Given the description of an element on the screen output the (x, y) to click on. 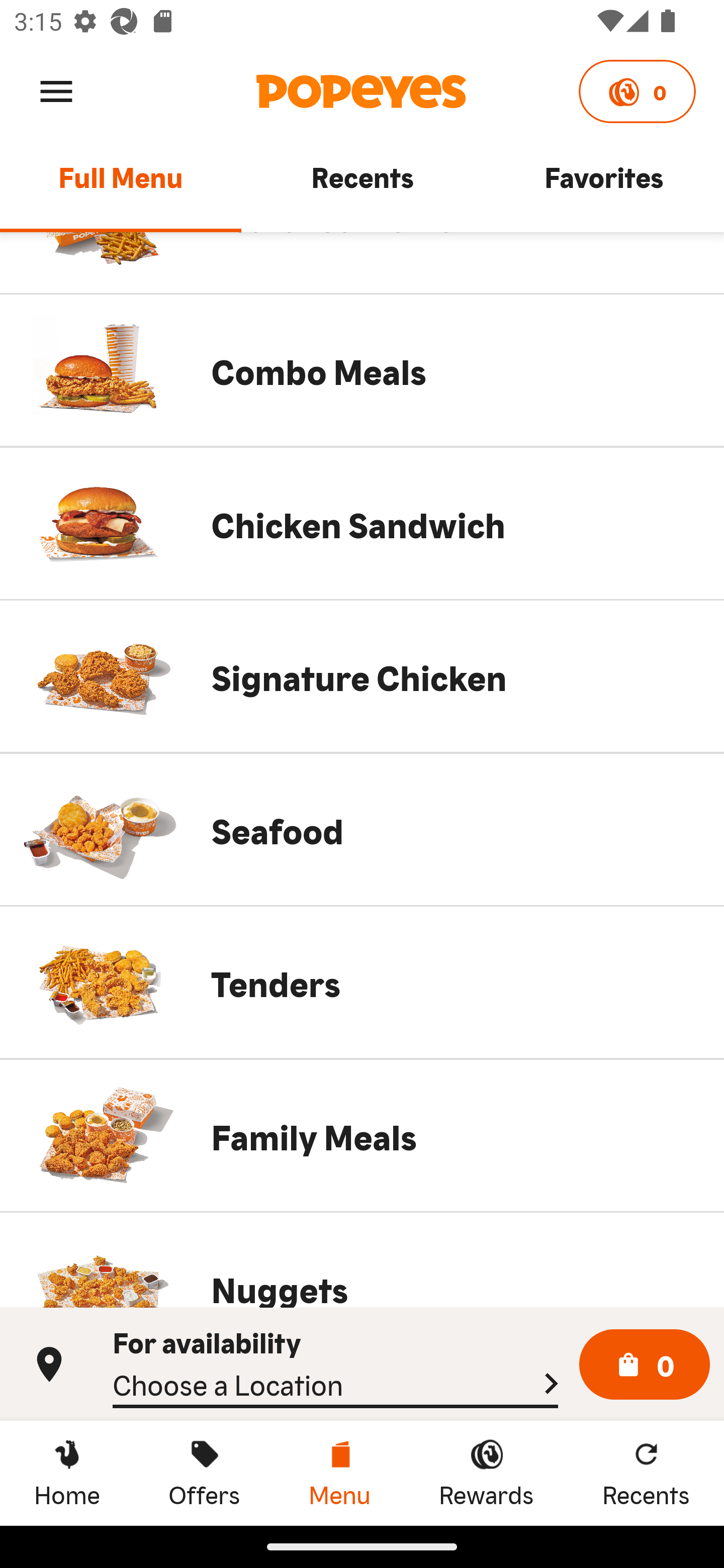
Menu  (56, 90)
0 Points 0 (636, 91)
Full Menu (120, 186)
Recents (361, 186)
Favorites (603, 186)
Seafood, Seafood Seafood Seafood (362, 829)
Chicken Tenders, Tenders Chicken Tenders Tenders (362, 982)
Nuggets, Nuggets Nuggets Nuggets (362, 1259)
0 Cart total  0 (644, 1364)
Home Home Home (66, 1472)
Offers Offers Offers (203, 1472)
Menu, current page Menu Menu, current page (339, 1472)
Rewards Rewards Rewards (486, 1472)
Recents Recents Recents (646, 1472)
